Given the description of an element on the screen output the (x, y) to click on. 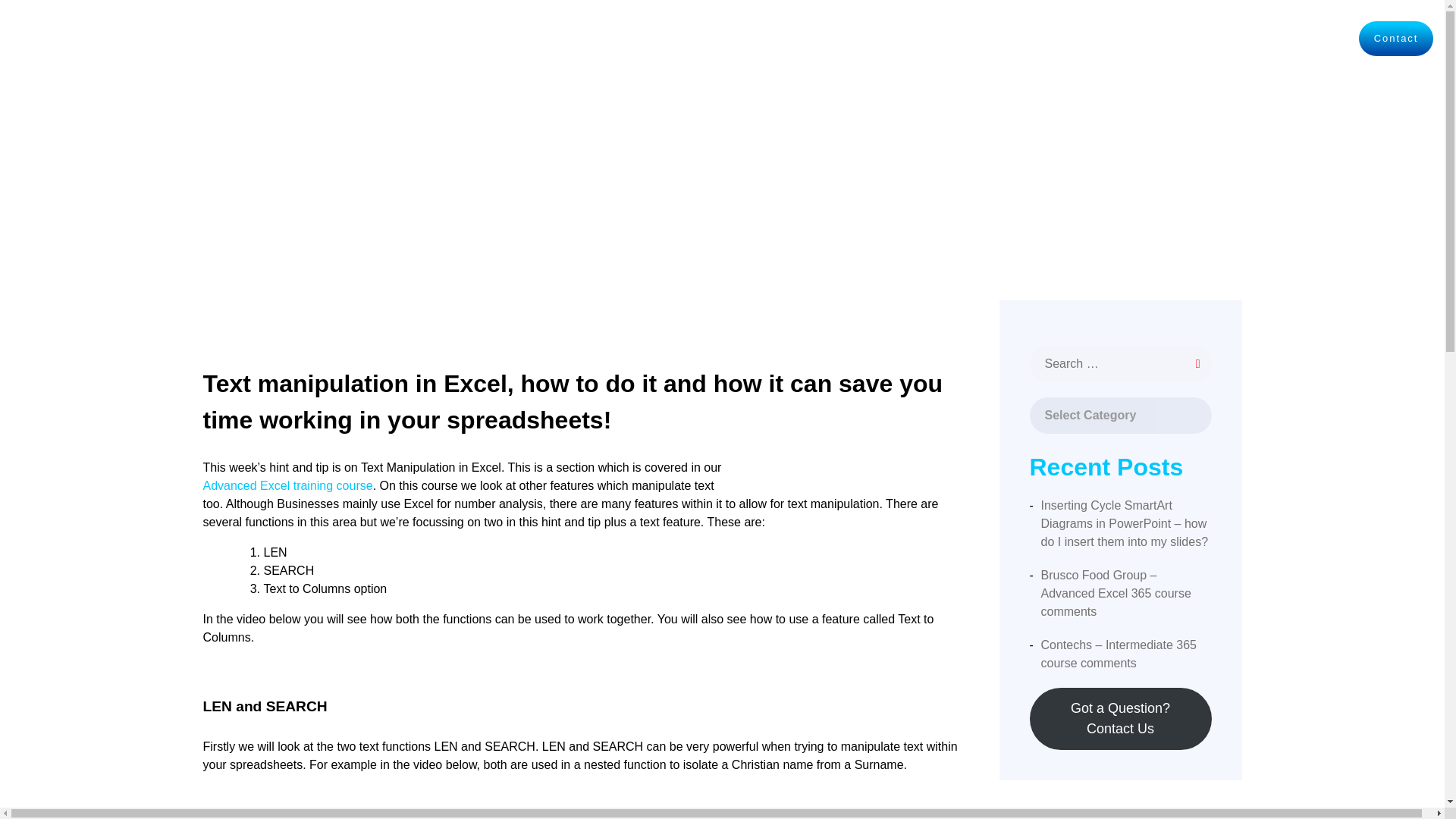
Virtual Training (1025, 37)
Search (91, 19)
Home (820, 39)
News (1324, 39)
Hints and Tips (1139, 37)
Contact (1395, 38)
Onsite Courses (909, 37)
Advanced Excel training course (287, 485)
Got a Question? Contact Us (1120, 718)
Testimonials (1244, 37)
